Given the description of an element on the screen output the (x, y) to click on. 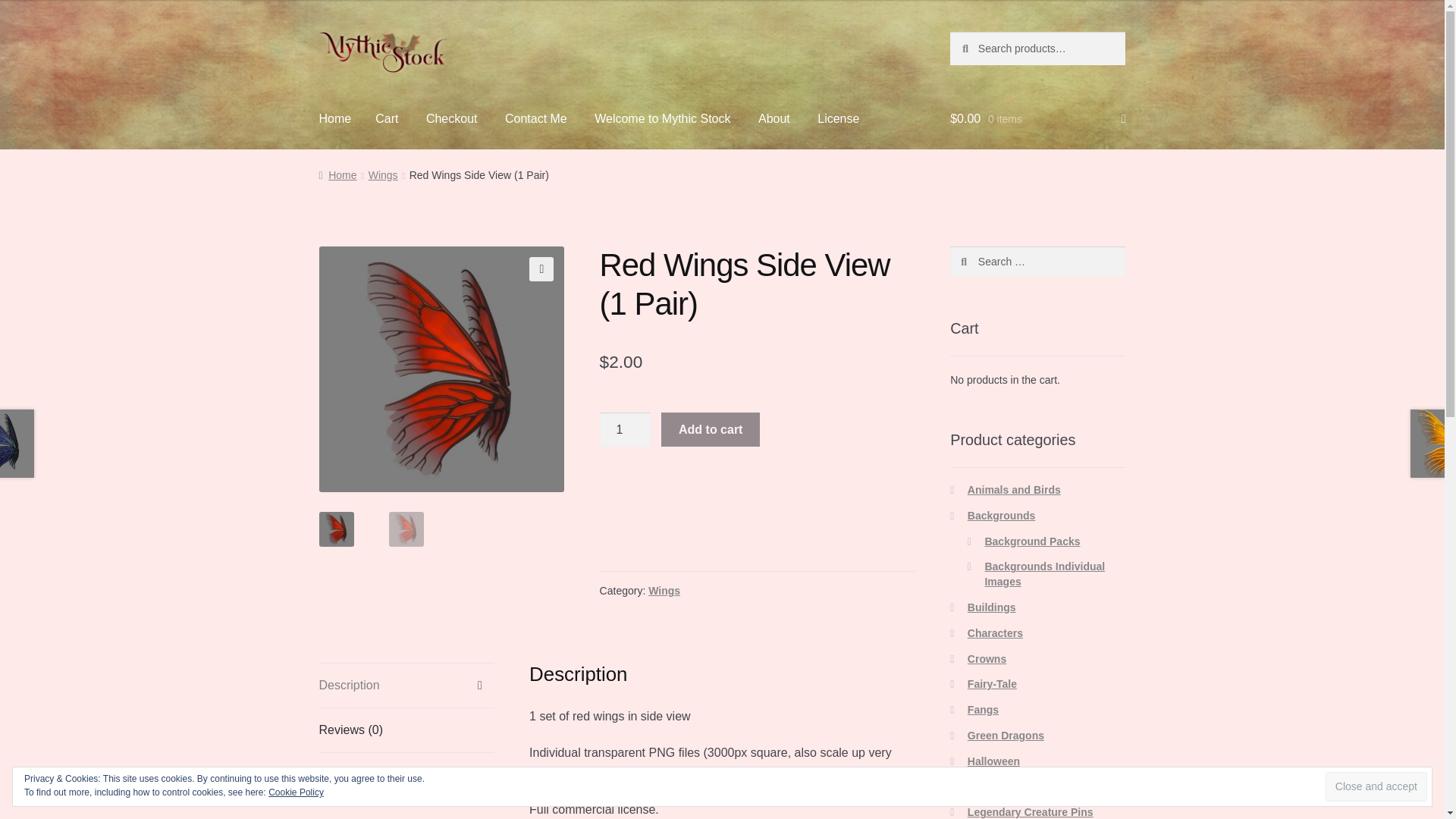
Home (335, 118)
Checkout (451, 118)
side red (441, 369)
Wings (382, 174)
PayPal (757, 535)
About (773, 118)
PayPal (757, 495)
Description (406, 685)
Add to cart (710, 429)
View your shopping cart (1037, 118)
Wings (663, 590)
Contact Me (536, 118)
